Given the description of an element on the screen output the (x, y) to click on. 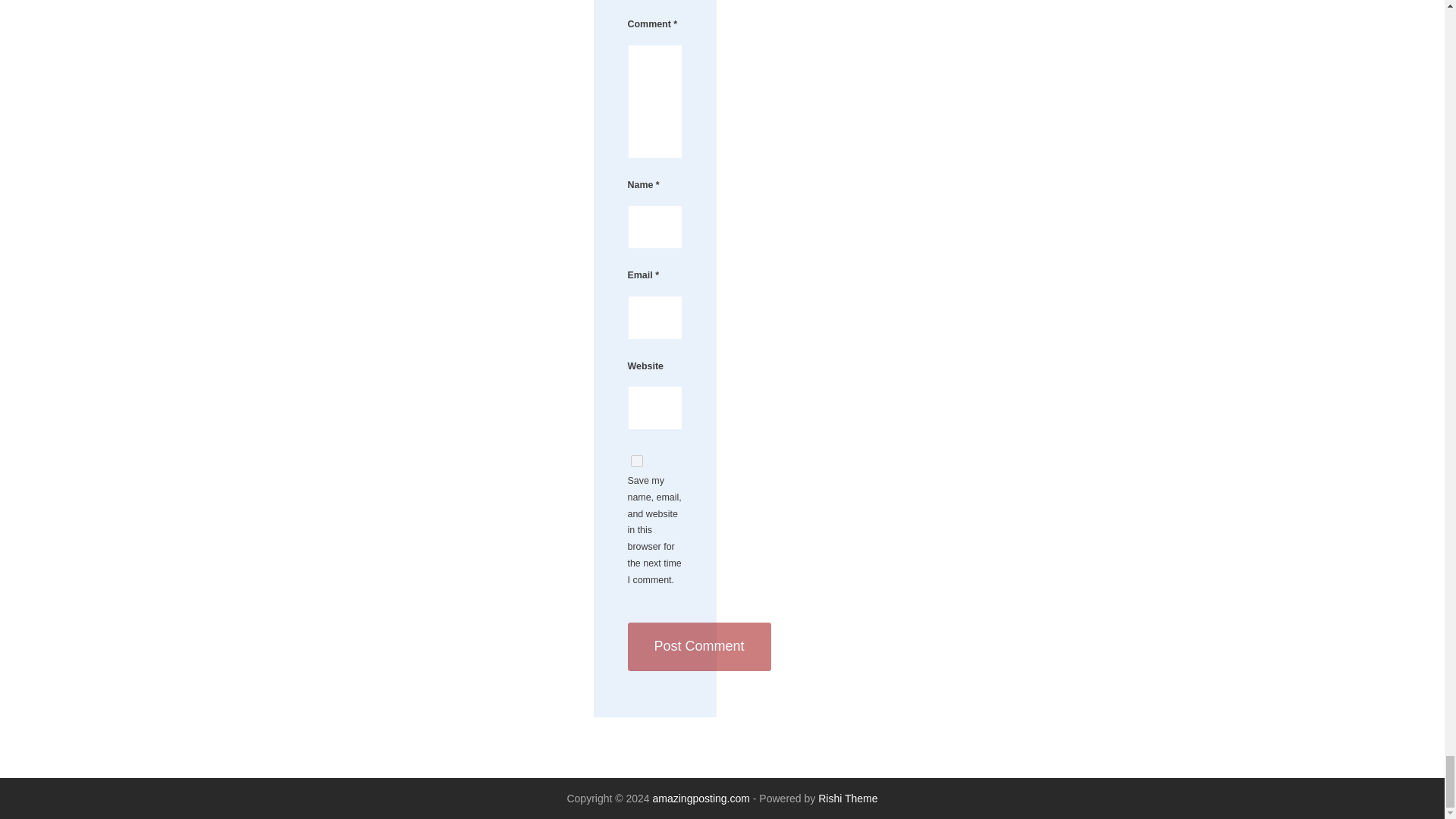
yes (636, 460)
Post Comment (699, 646)
